Given the description of an element on the screen output the (x, y) to click on. 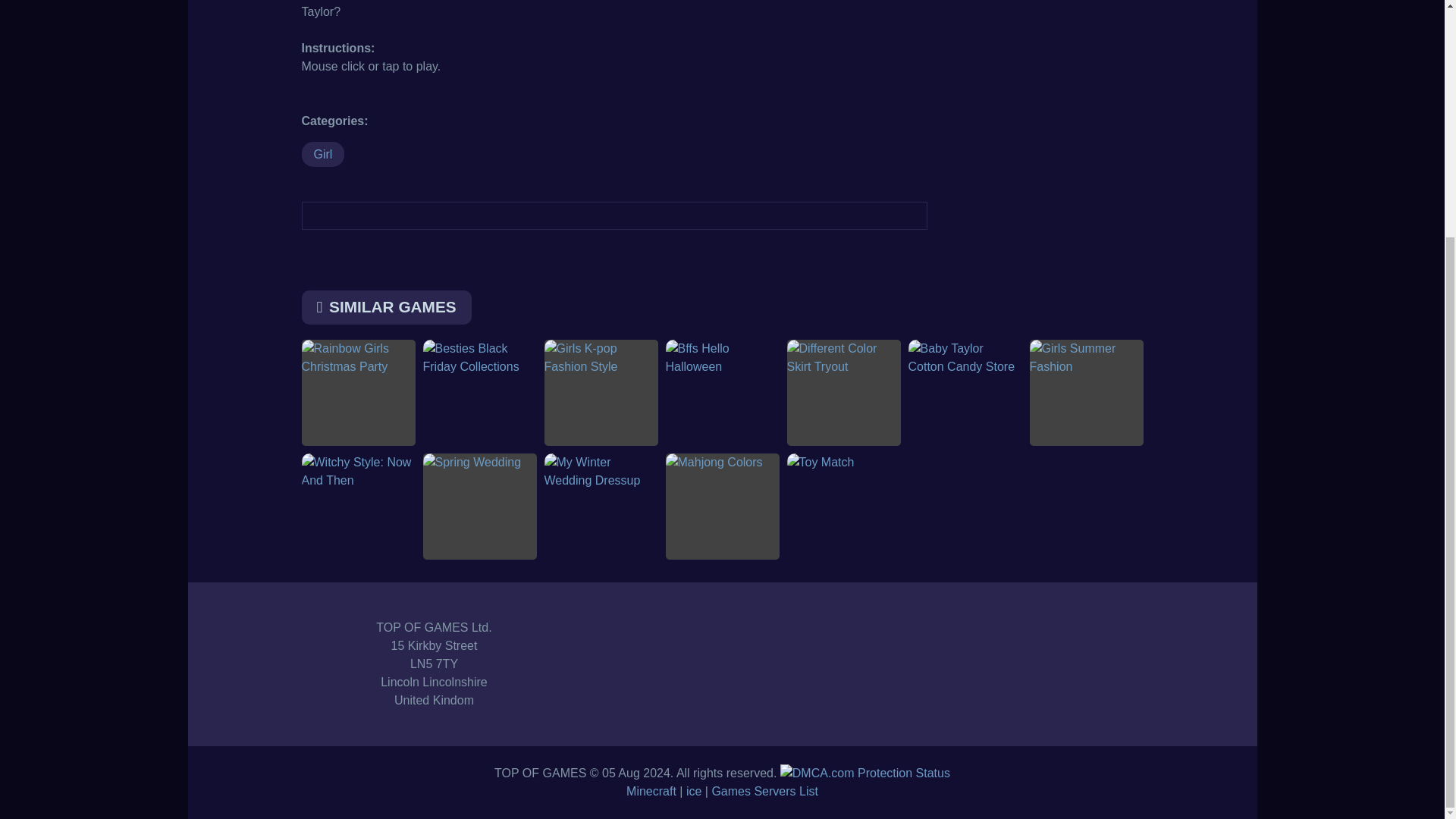
DMCA.com Protection Status (865, 772)
Free URL Shortener (727, 790)
Games Servers List (830, 790)
Free Minecraft Servers List (619, 790)
